Given the description of an element on the screen output the (x, y) to click on. 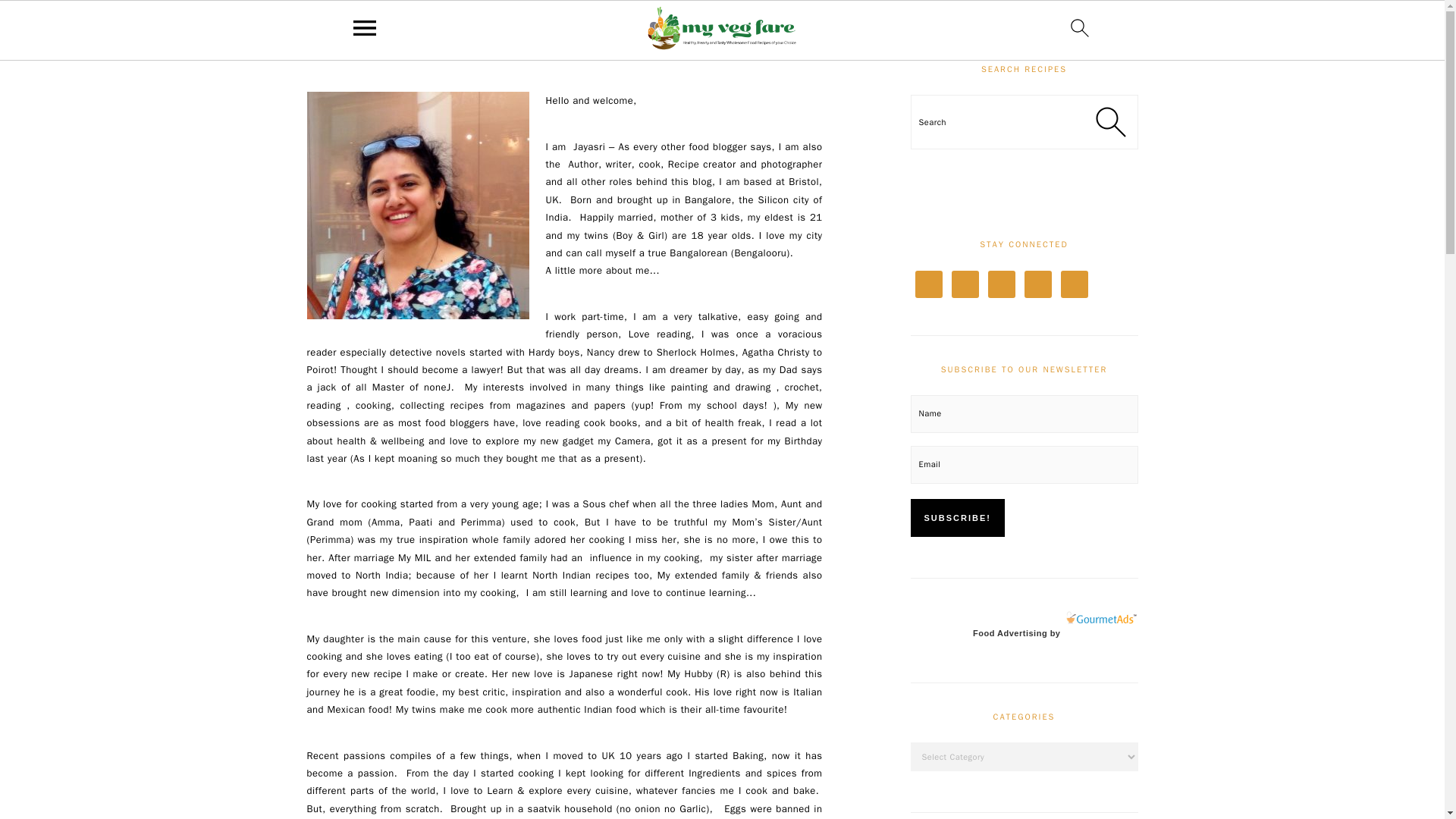
Name (1023, 413)
menu icon (365, 27)
Food Advertising by (1015, 633)
search icon (1080, 27)
Email (1023, 464)
Subscribe! (957, 517)
